Given the description of an element on the screen output the (x, y) to click on. 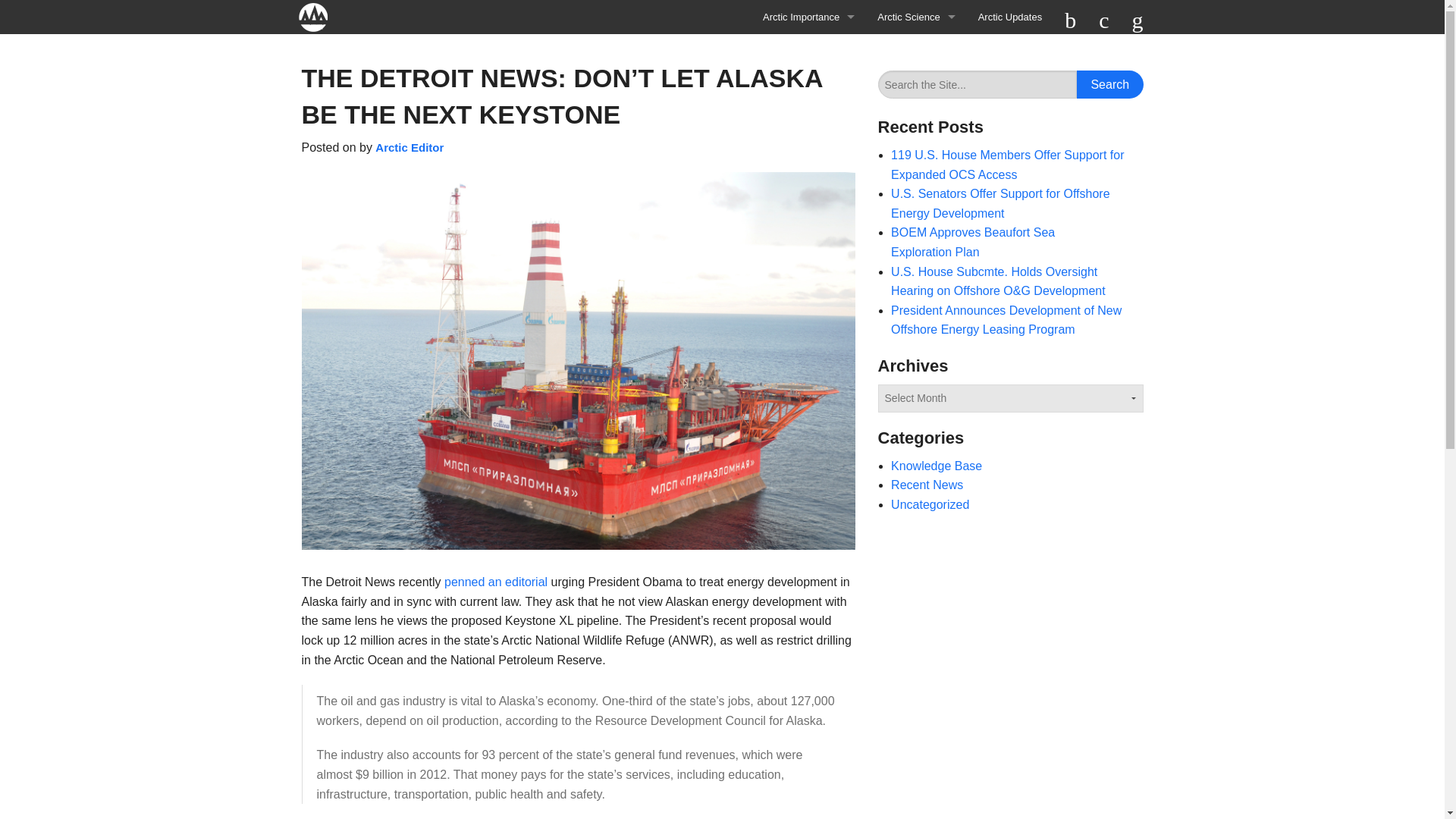
Arctic For All (319, 17)
Geopolitics (808, 119)
Arctic Science (916, 17)
Search (1109, 84)
U.S. Senators Offer Support for Offshore Energy Development (1000, 203)
Author (401, 146)
Transportation (808, 84)
Arctic Importance (808, 17)
Uncategorized (930, 504)
Recent News (926, 484)
Other Resources (808, 153)
Arctic Updates (1010, 17)
Search (1109, 84)
Arctic Editor (409, 146)
